Given the description of an element on the screen output the (x, y) to click on. 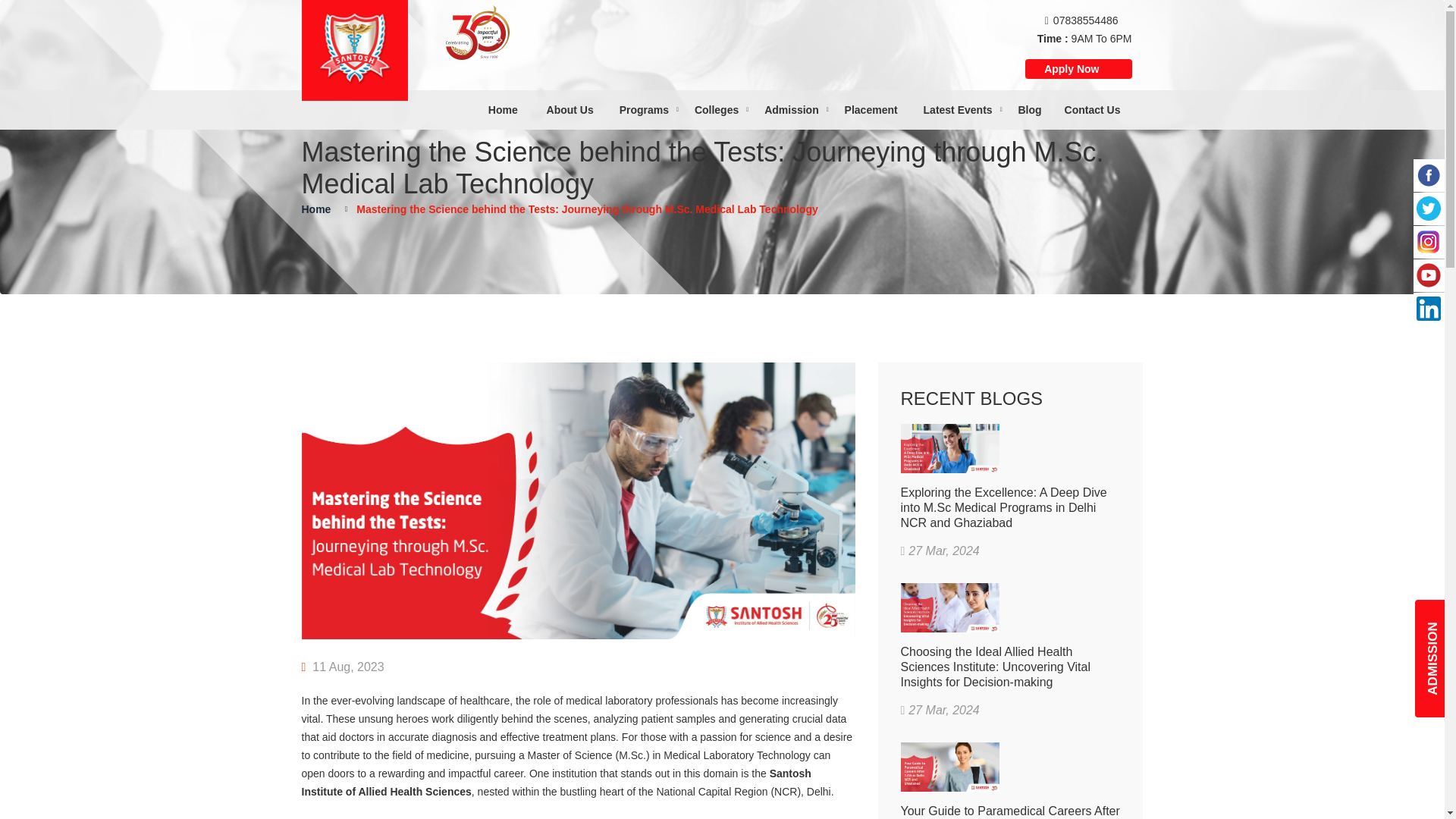
07838554486 (1085, 20)
Programs (644, 109)
About Us (570, 109)
Home (502, 109)
Apply Now (1078, 68)
Apply Now (1071, 68)
